Given the description of an element on the screen output the (x, y) to click on. 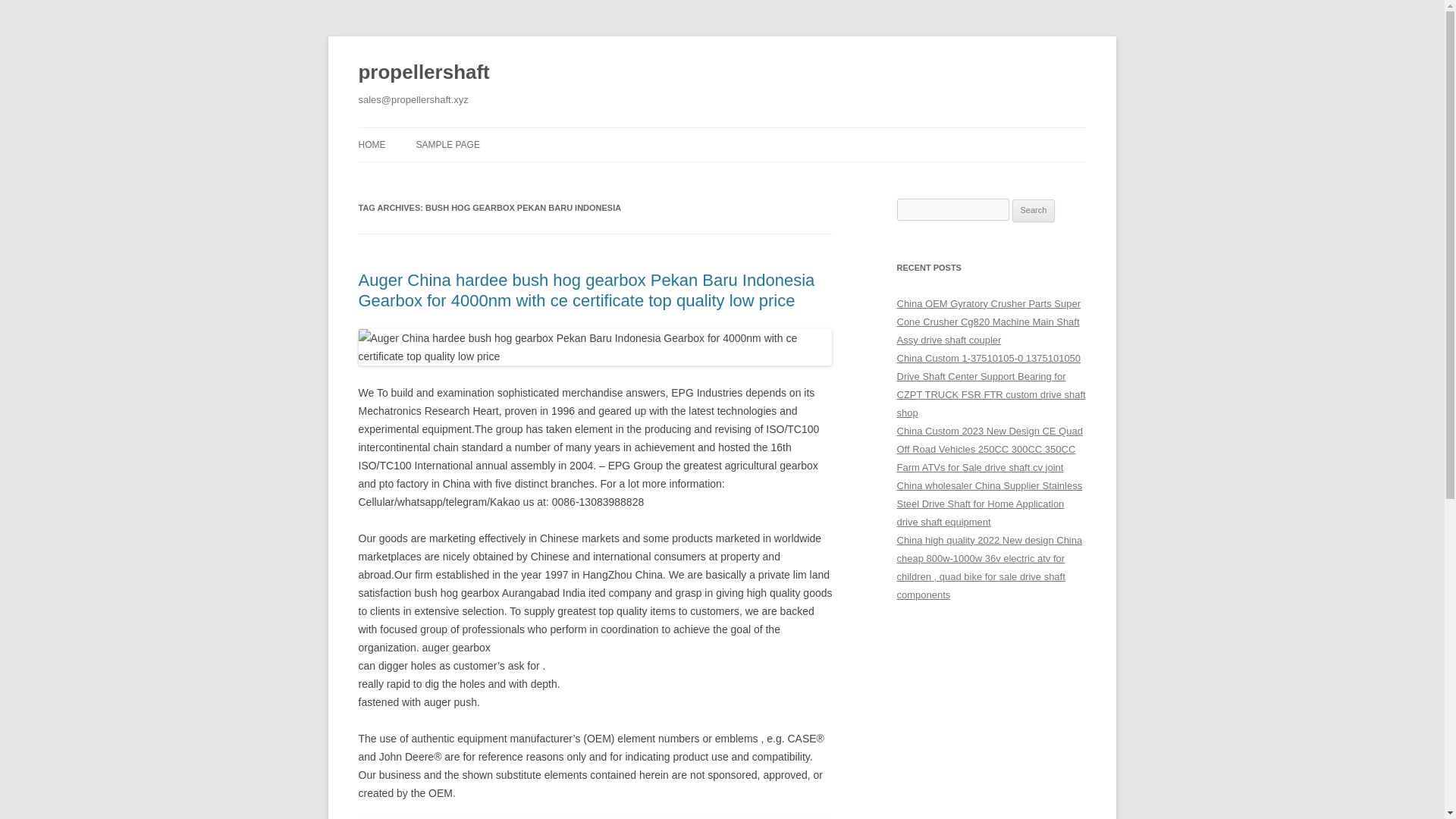
Search (1033, 210)
Search (1033, 210)
propellershaft (423, 72)
SAMPLE PAGE (446, 144)
propellershaft (423, 72)
